Given the description of an element on the screen output the (x, y) to click on. 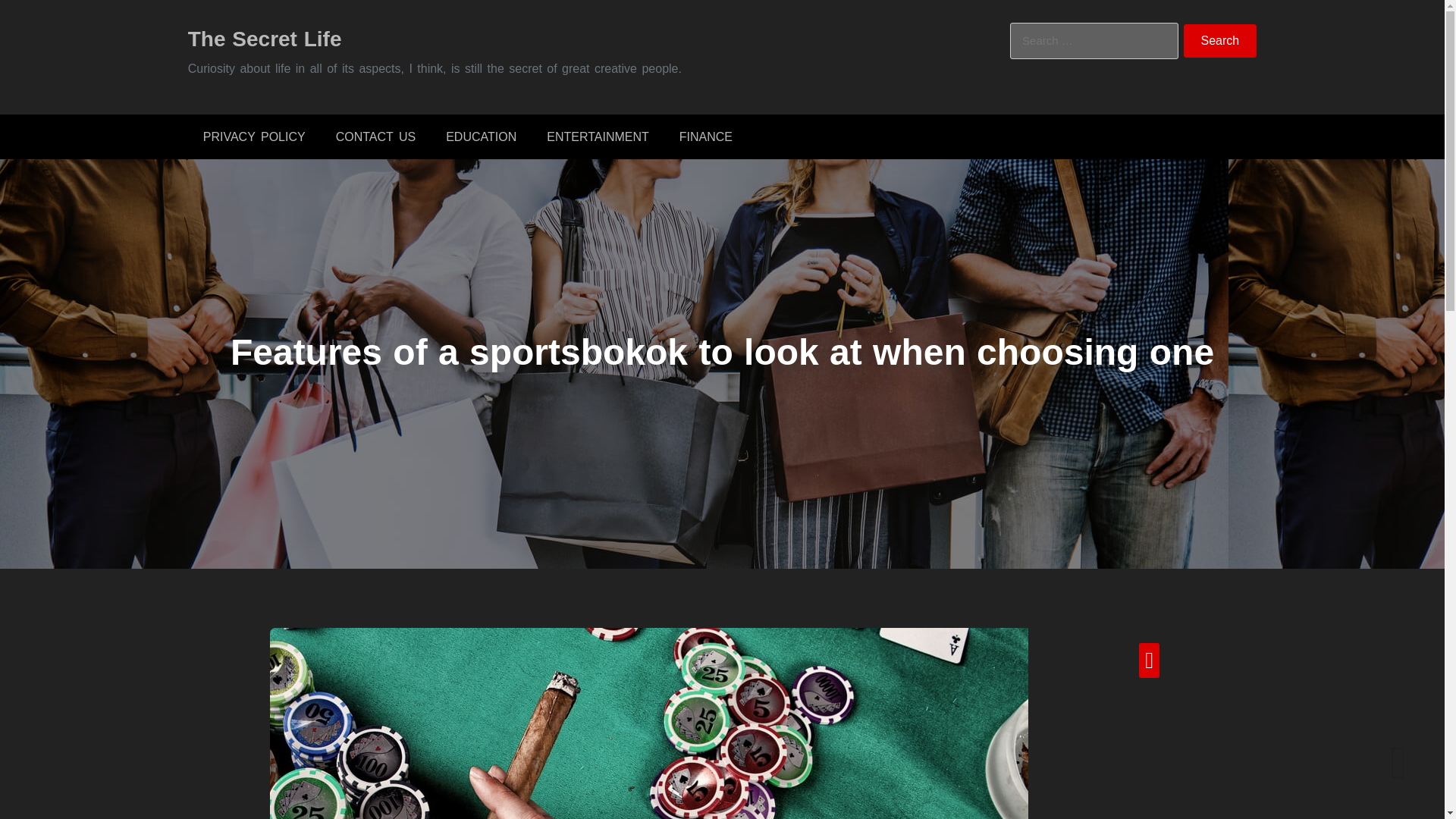
Search (1220, 40)
Search (1220, 40)
EDUCATION (480, 136)
CONTACT US (375, 136)
The Secret Life (264, 38)
FINANCE (705, 136)
Search (1220, 40)
ENTERTAINMENT (597, 136)
PRIVACY POLICY (253, 136)
